Given the description of an element on the screen output the (x, y) to click on. 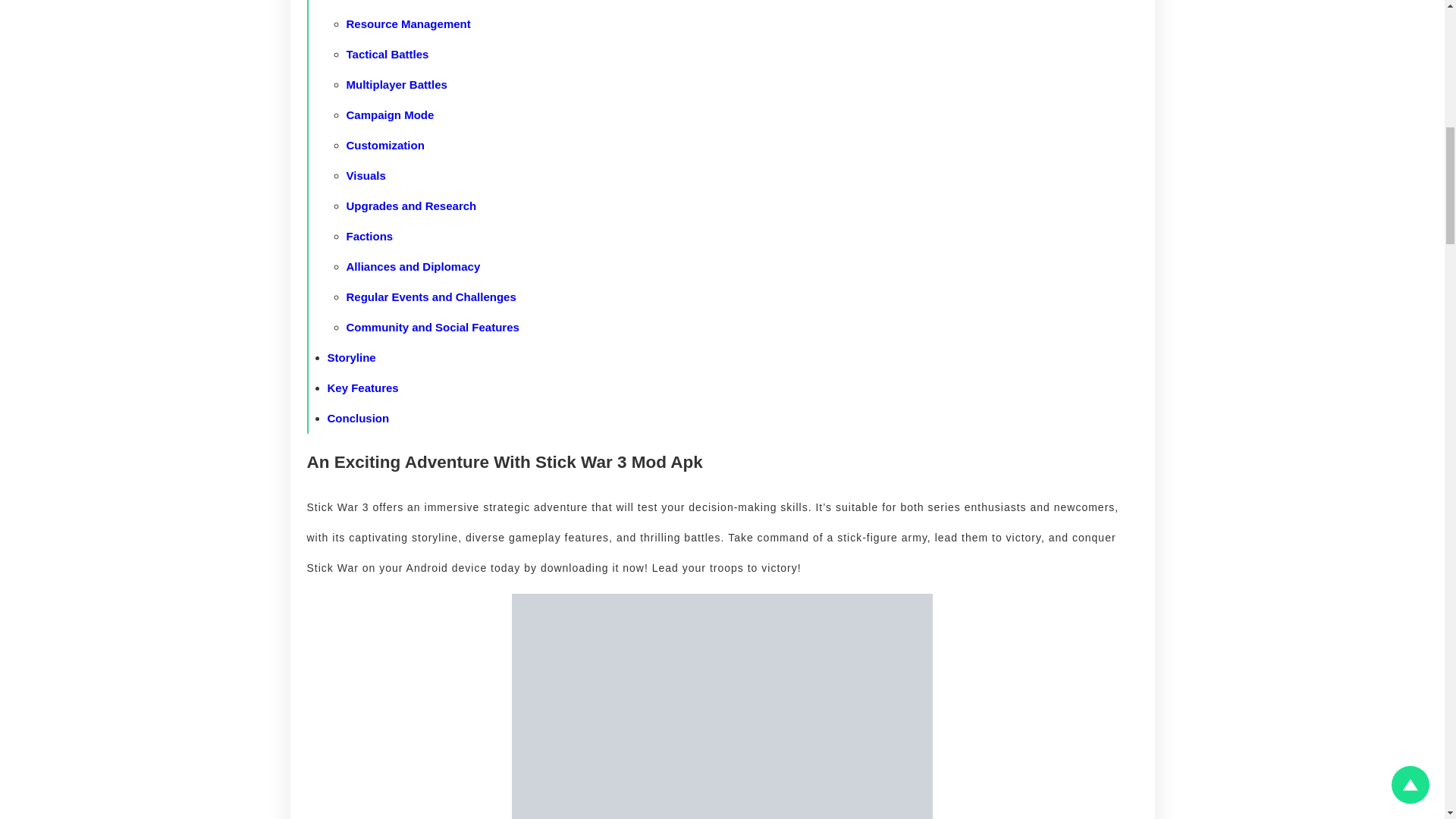
Key Features (362, 387)
Campaign Mode (389, 114)
Visuals (365, 174)
Tactical Battles (387, 53)
Storyline (351, 357)
Conclusion (358, 418)
Alliances and Diplomacy (413, 266)
Resource Management (408, 23)
Customization (384, 144)
Regular Events and Challenges (430, 296)
